Given the description of an element on the screen output the (x, y) to click on. 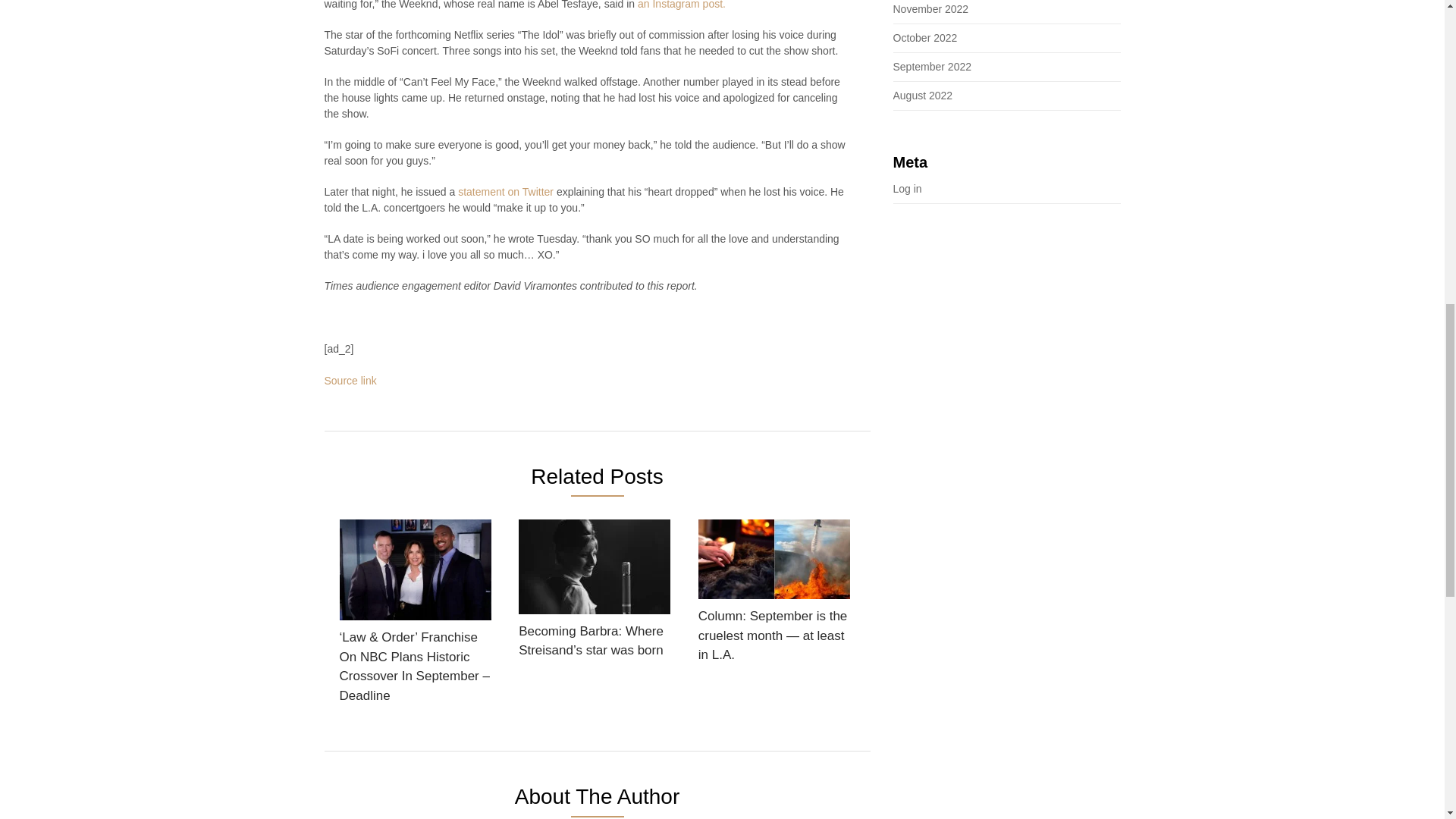
statement on Twitter (503, 191)
Source link (350, 380)
October 2022 (925, 37)
an Instagram post. (681, 4)
November 2022 (931, 9)
